Given the description of an element on the screen output the (x, y) to click on. 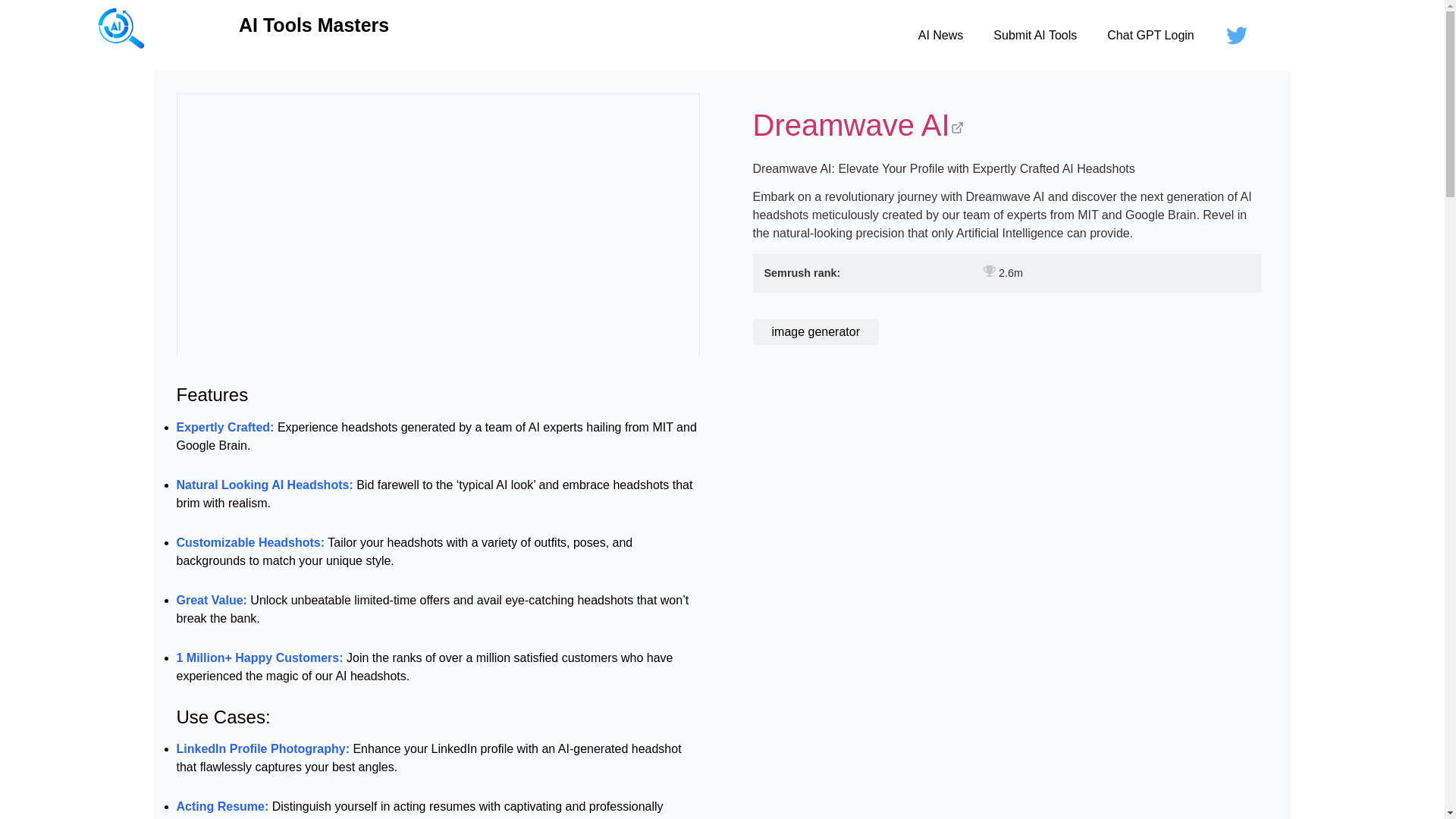
AI Tools Masters (313, 25)
Chat GPT Login (1150, 35)
image generator (815, 331)
Dreamwave AI (1006, 127)
AI News (940, 35)
Submit AI Tools (1035, 35)
